Given the description of an element on the screen output the (x, y) to click on. 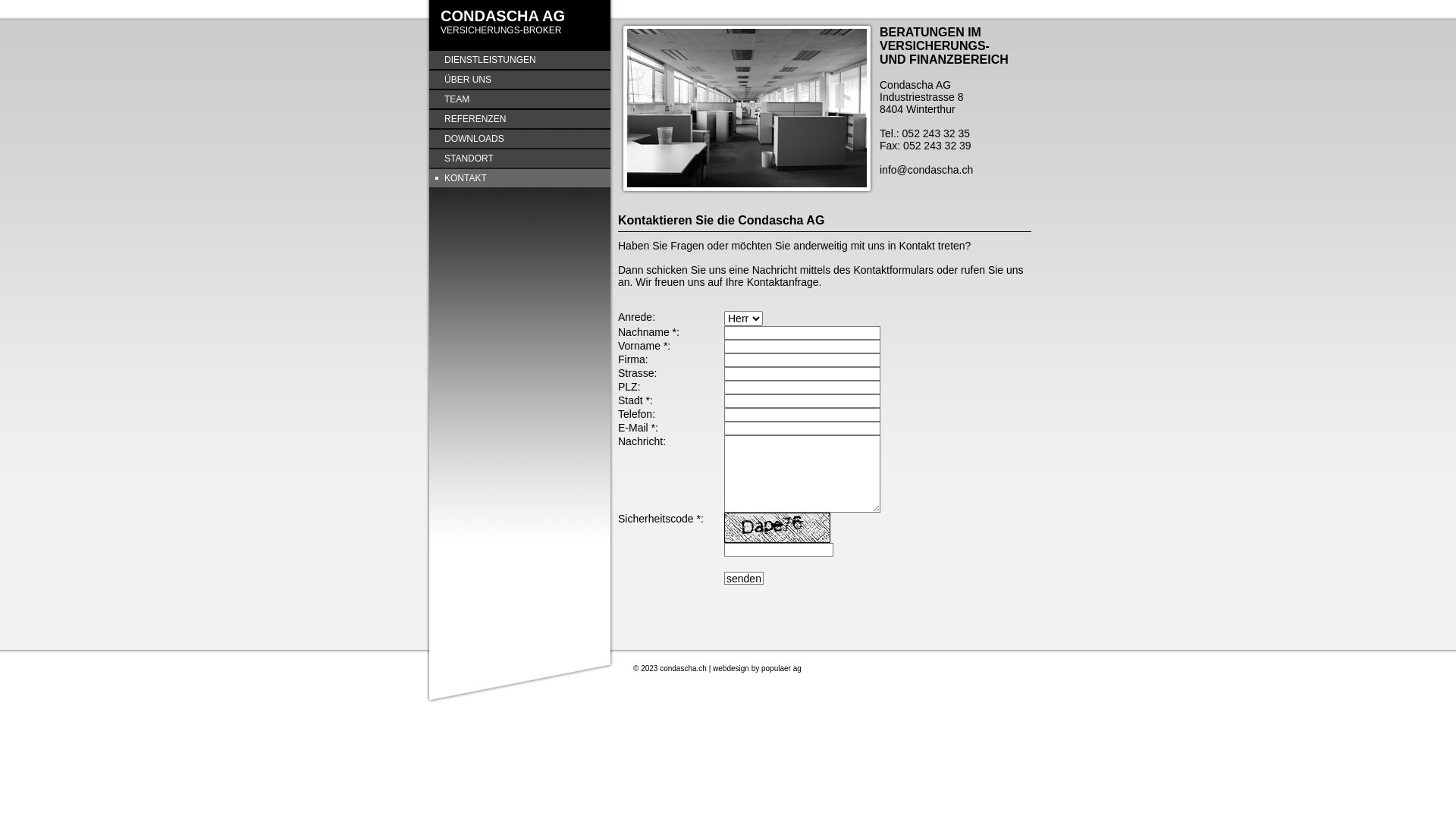
TEAM Element type: text (519, 99)
STANDORT Element type: text (519, 158)
info@condascha.ch Element type: text (925, 169)
DOWNLOADS Element type: text (519, 138)
REFERENZEN Element type: text (519, 118)
DIENSTLEISTUNGEN Element type: text (519, 59)
populaer ag Element type: text (781, 668)
KONTAKT Element type: text (519, 178)
senden Element type: text (743, 577)
CONDASCHA AG Element type: text (502, 15)
VERSICHERUNGS-BROKER Element type: text (500, 30)
